Given the description of an element on the screen output the (x, y) to click on. 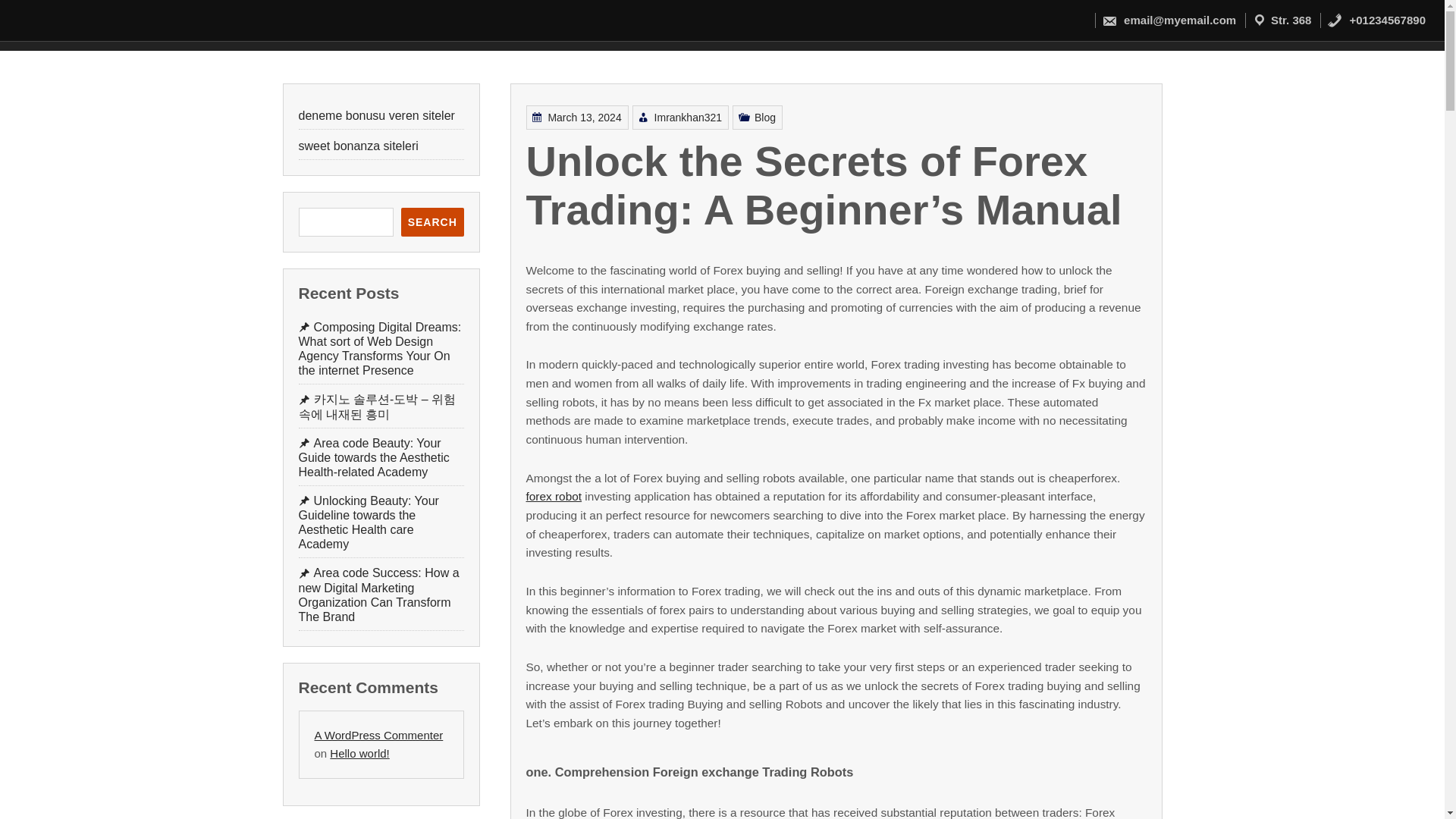
Hello world! (360, 752)
deneme bonusu veren siteler (376, 115)
Imrankhan321 (767, 594)
A WordPress Commenter (381, 735)
forex robot (659, 743)
March 13, 2024 (718, 655)
Blog (797, 537)
sweet bonanza siteleri (358, 145)
SEARCH (432, 222)
